Given the description of an element on the screen output the (x, y) to click on. 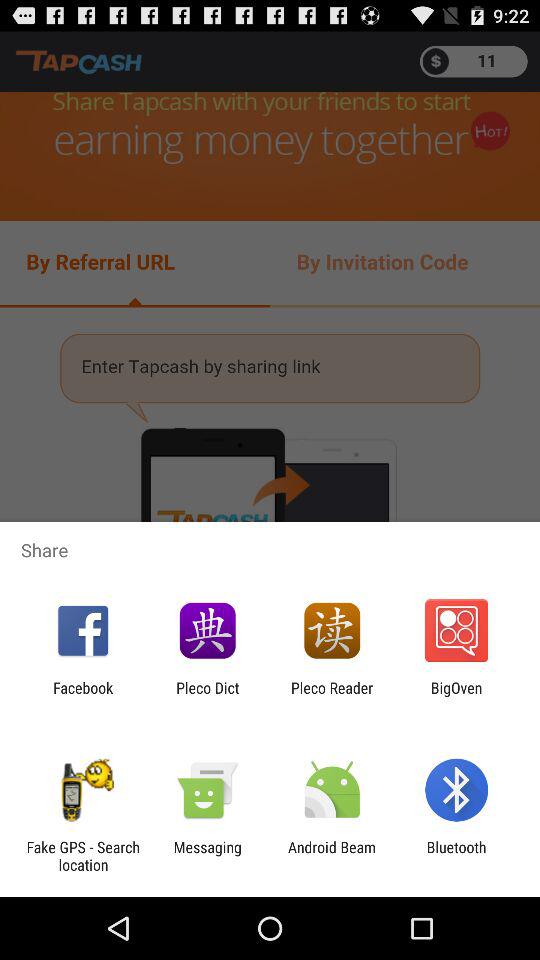
choose app to the right of facebook app (207, 696)
